Given the description of an element on the screen output the (x, y) to click on. 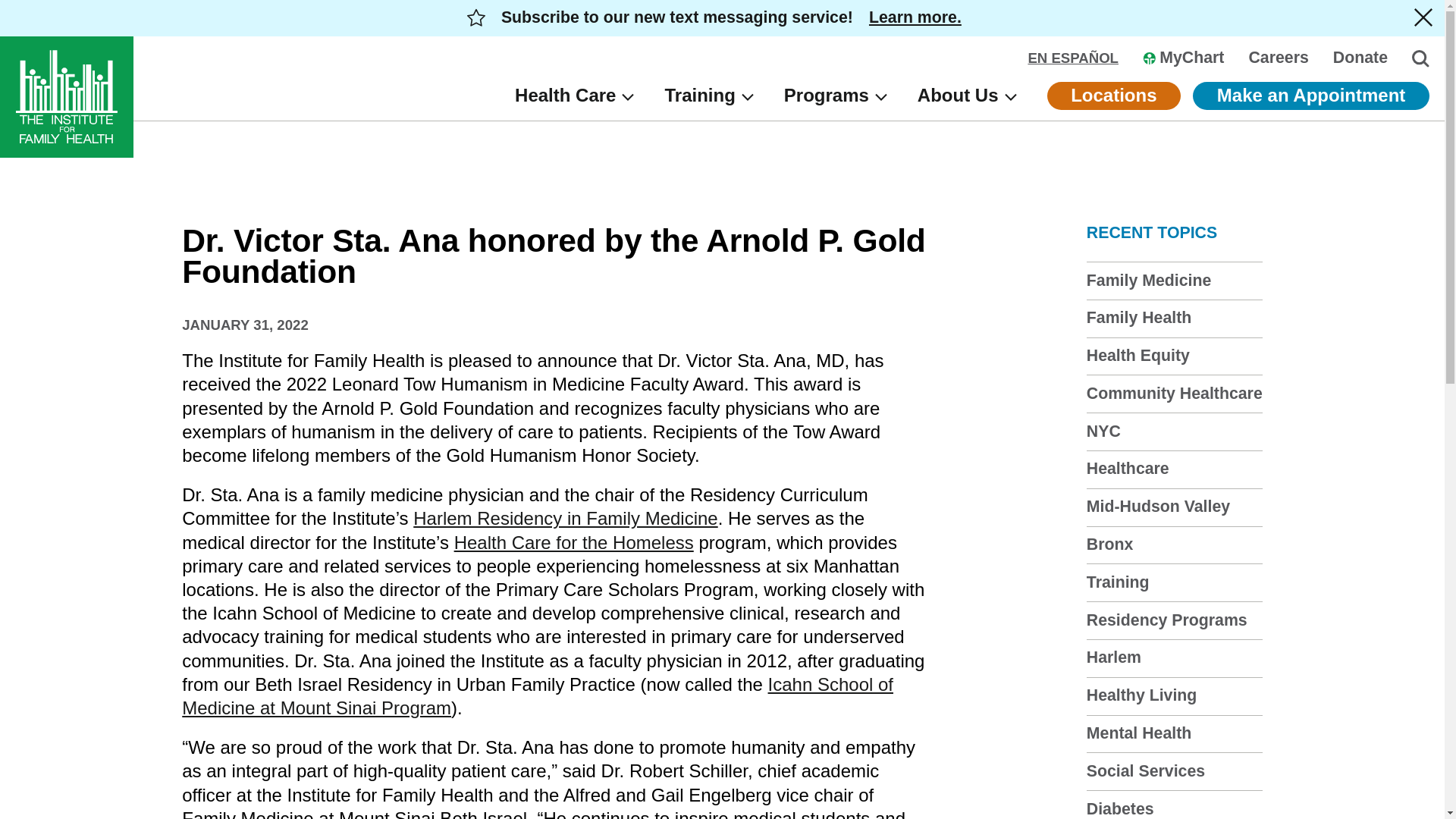
MyChart (1183, 57)
Harlem Residency in Family Medicine (565, 517)
Donate (1360, 57)
Make an Appointment (1310, 95)
Careers (1277, 57)
About Us (966, 96)
Social Services (1145, 771)
Healthcare (1127, 468)
Icahn School of Medicine at Mount Sinai Program (537, 696)
NYC (1103, 431)
Locations (1113, 95)
Harlem (1113, 657)
Mid-Hudson Valley (1158, 506)
Training (707, 96)
Training (1118, 582)
